Given the description of an element on the screen output the (x, y) to click on. 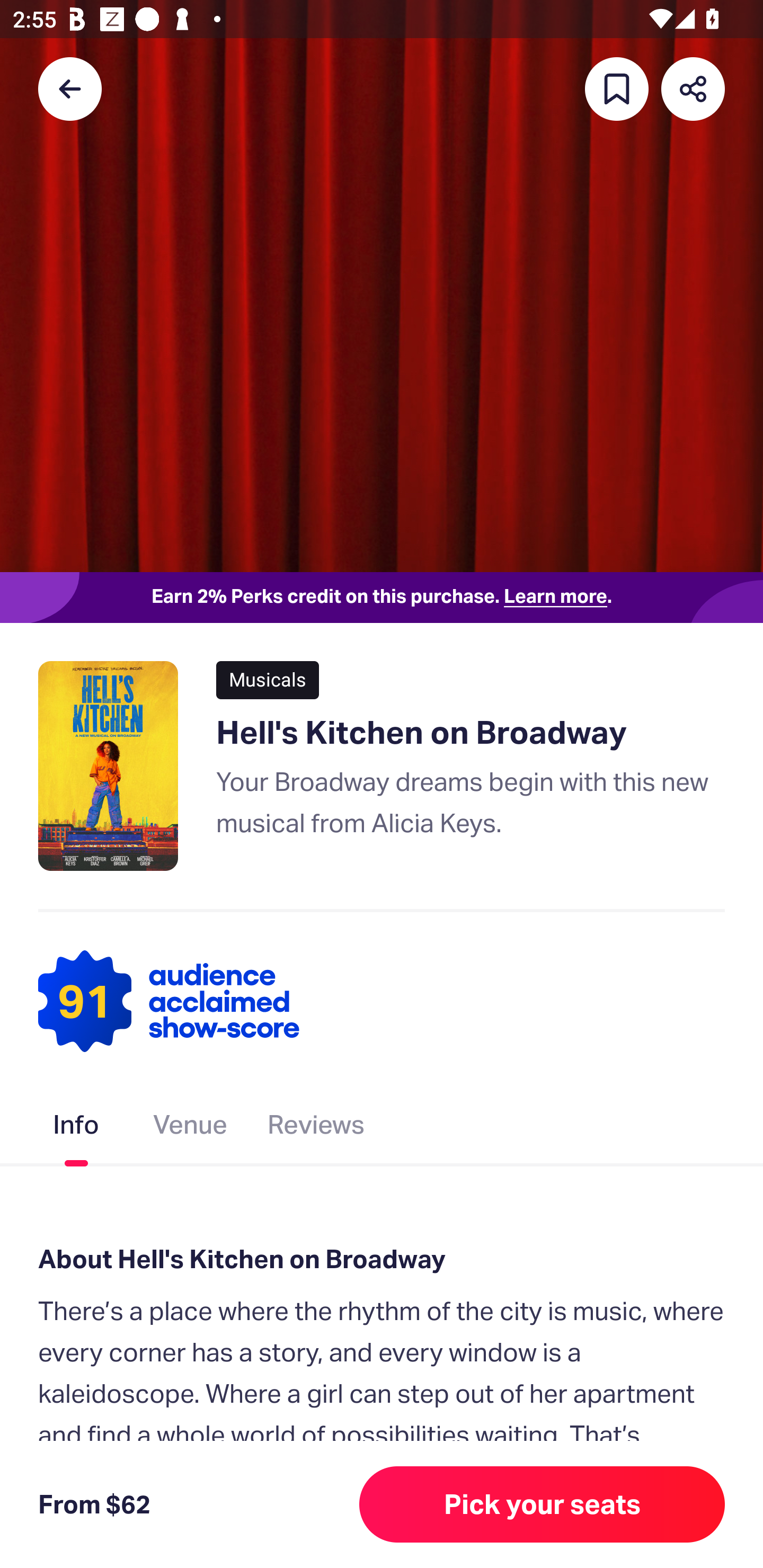
Earn 2% Perks credit on this purchase. Learn more. (381, 597)
Venue (190, 1127)
Reviews (315, 1127)
About Hell's Kitchen on Broadway (381, 1259)
Pick your seats (541, 1504)
